Given the description of an element on the screen output the (x, y) to click on. 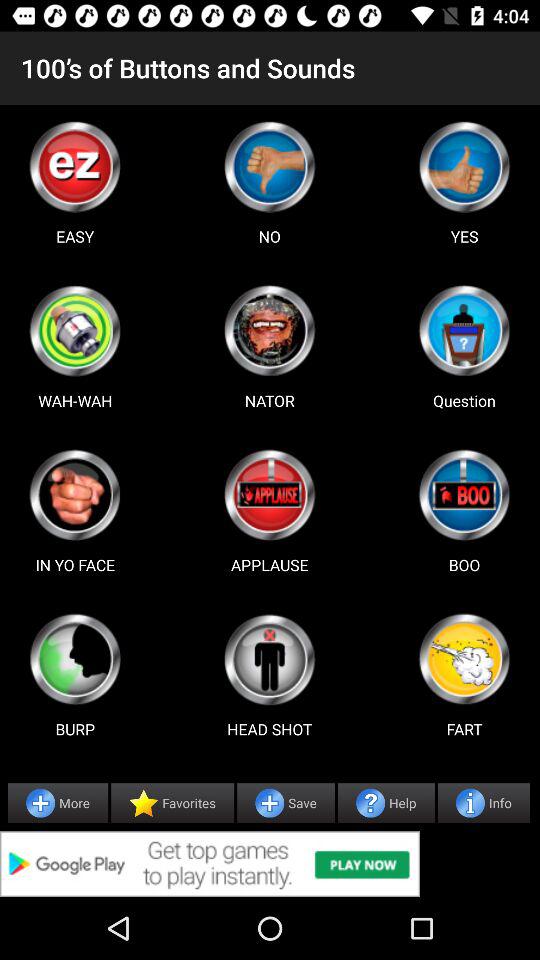
select ez sounds (75, 166)
